Given the description of an element on the screen output the (x, y) to click on. 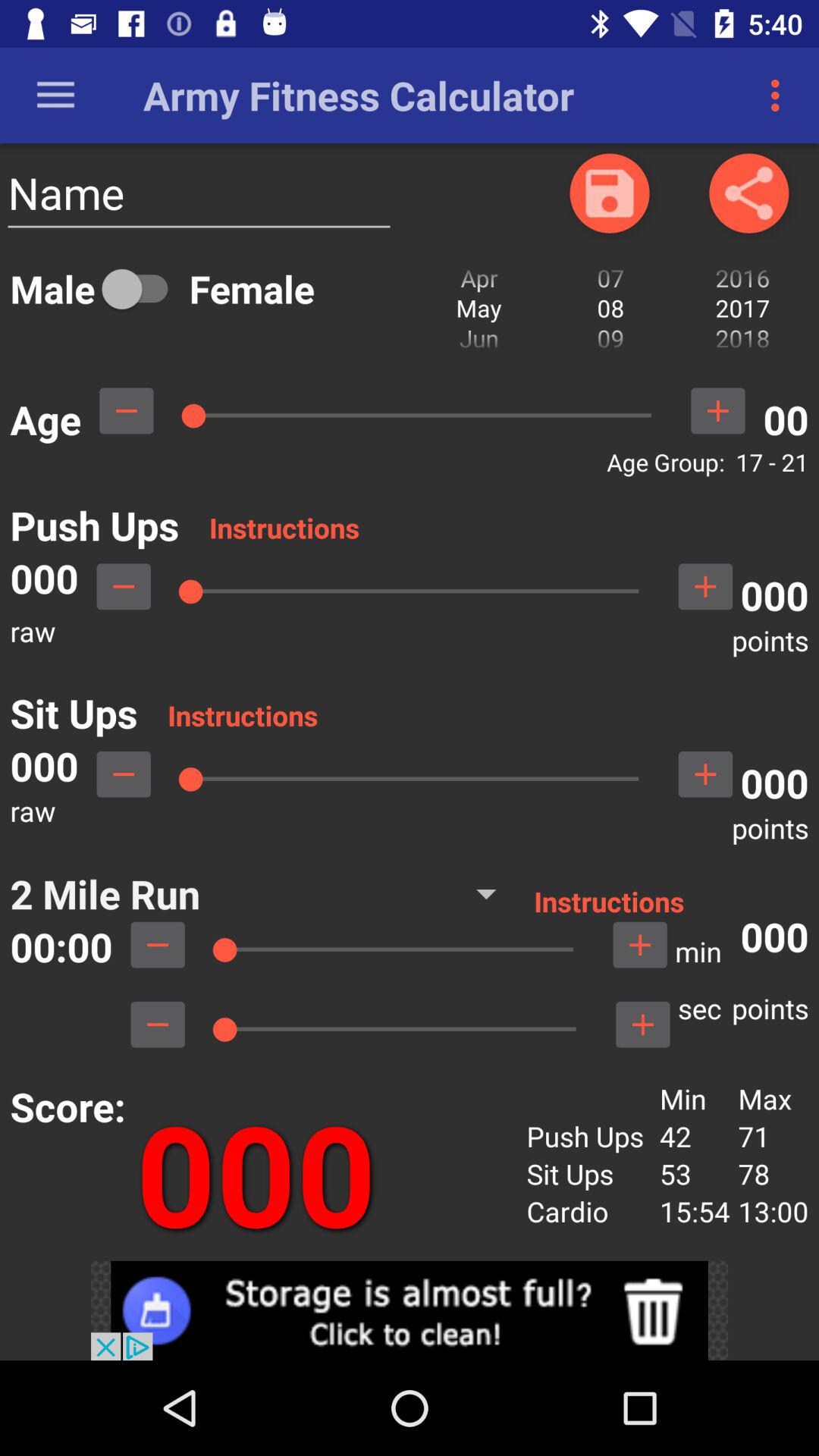
increment one (718, 410)
